Given the description of an element on the screen output the (x, y) to click on. 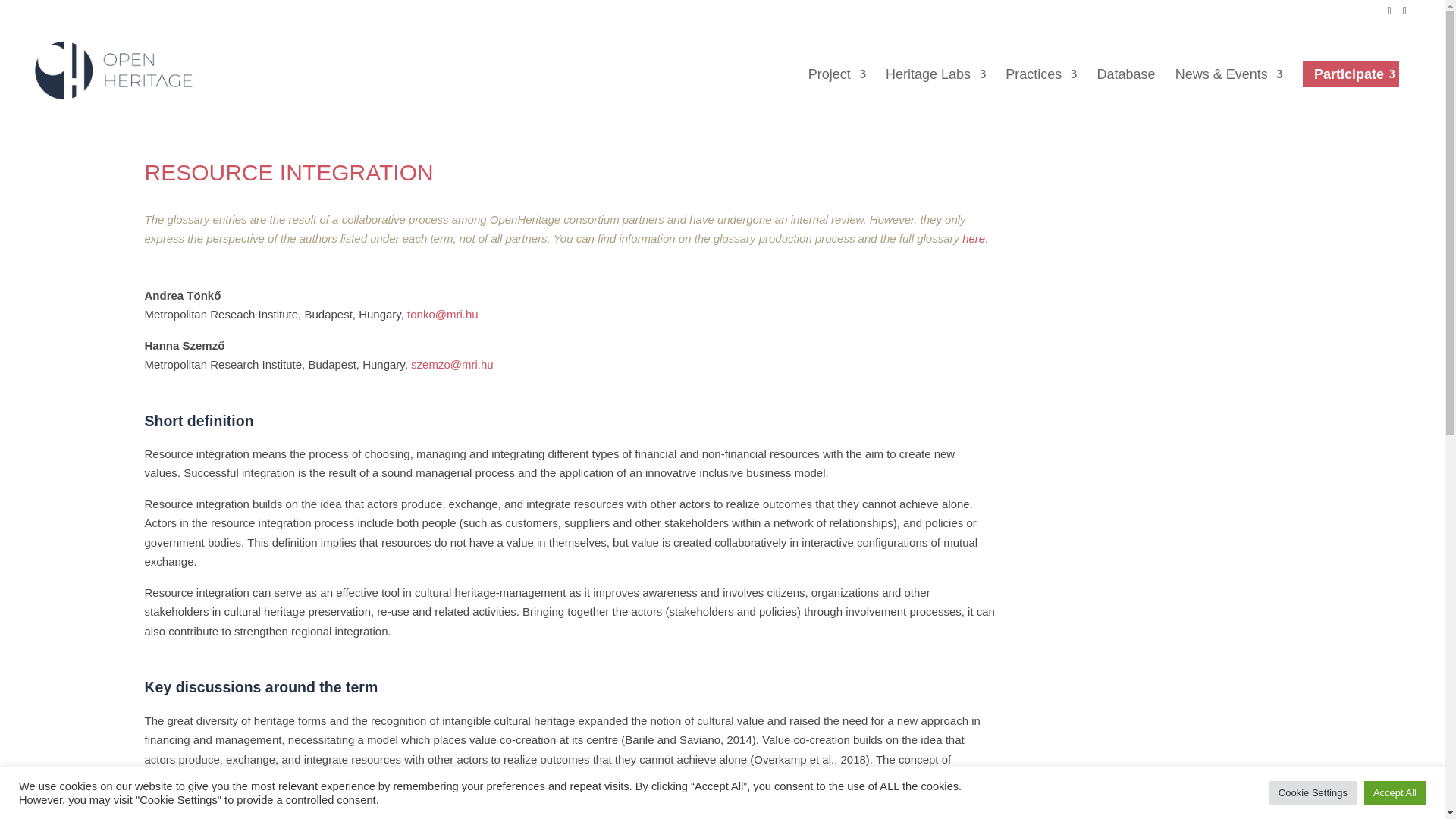
Project (837, 91)
Practices (1041, 91)
Database (1125, 91)
Participate (1351, 73)
Heritage Labs (935, 91)
